Given the description of an element on the screen output the (x, y) to click on. 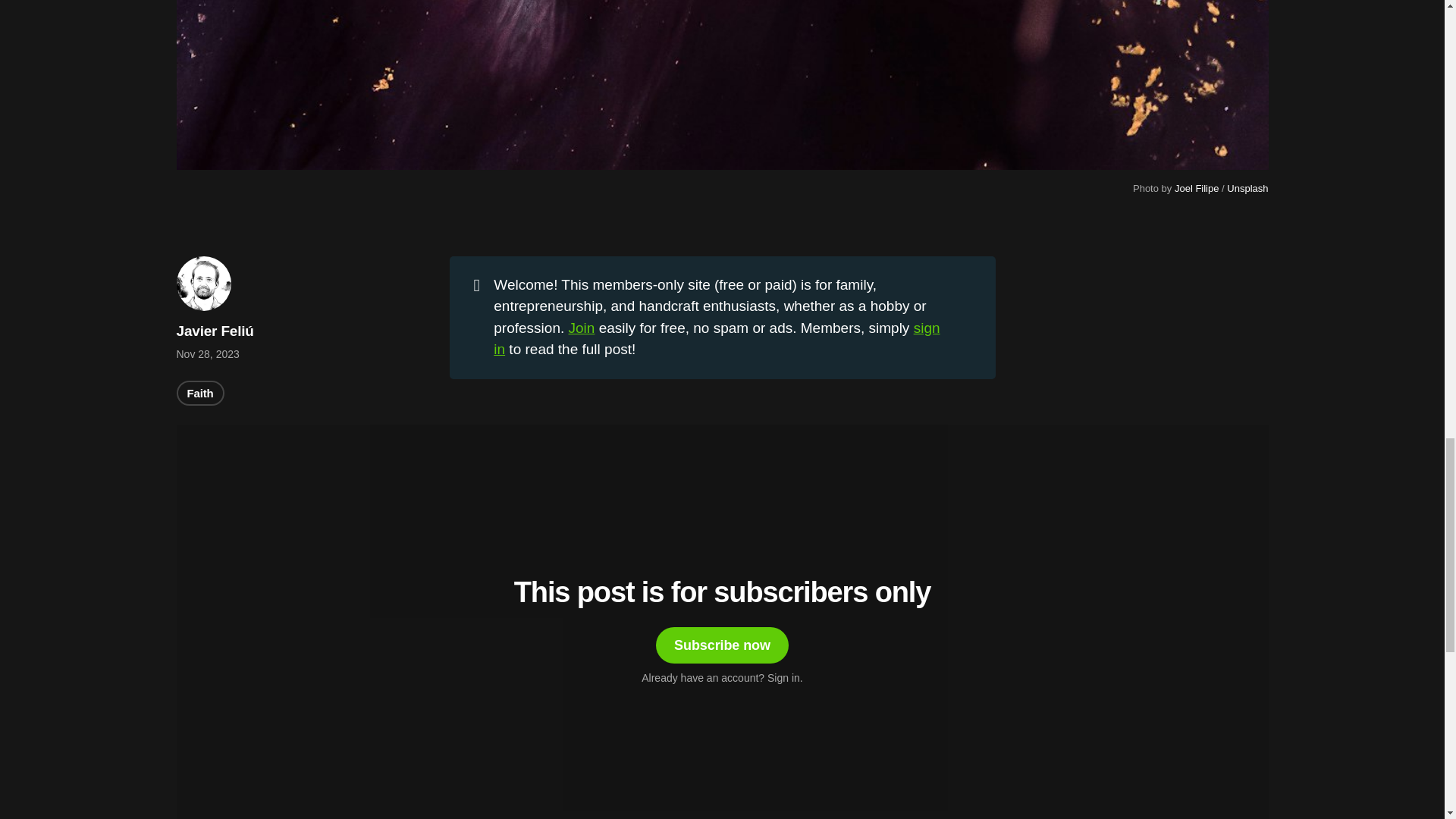
Join (582, 327)
Unsplash (1247, 188)
Subscribe now (722, 645)
Joel Filipe (1197, 188)
sign in (716, 338)
Faith (200, 393)
